Given the description of an element on the screen output the (x, y) to click on. 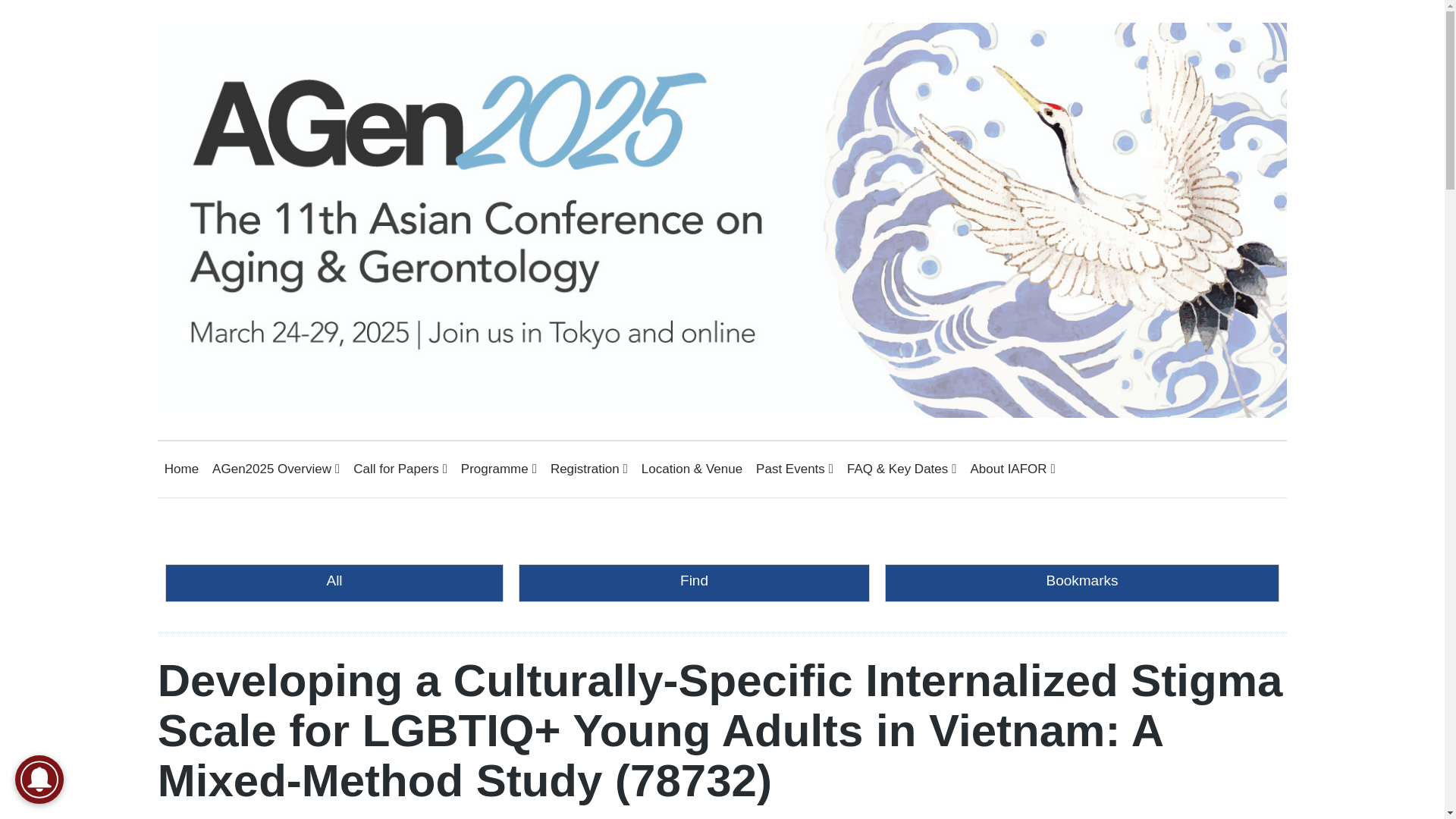
Home (181, 469)
Registration (588, 469)
Programme (499, 469)
Call for Papers (399, 469)
AGen2025 Overview (275, 469)
Past Events (793, 469)
